Given the description of an element on the screen output the (x, y) to click on. 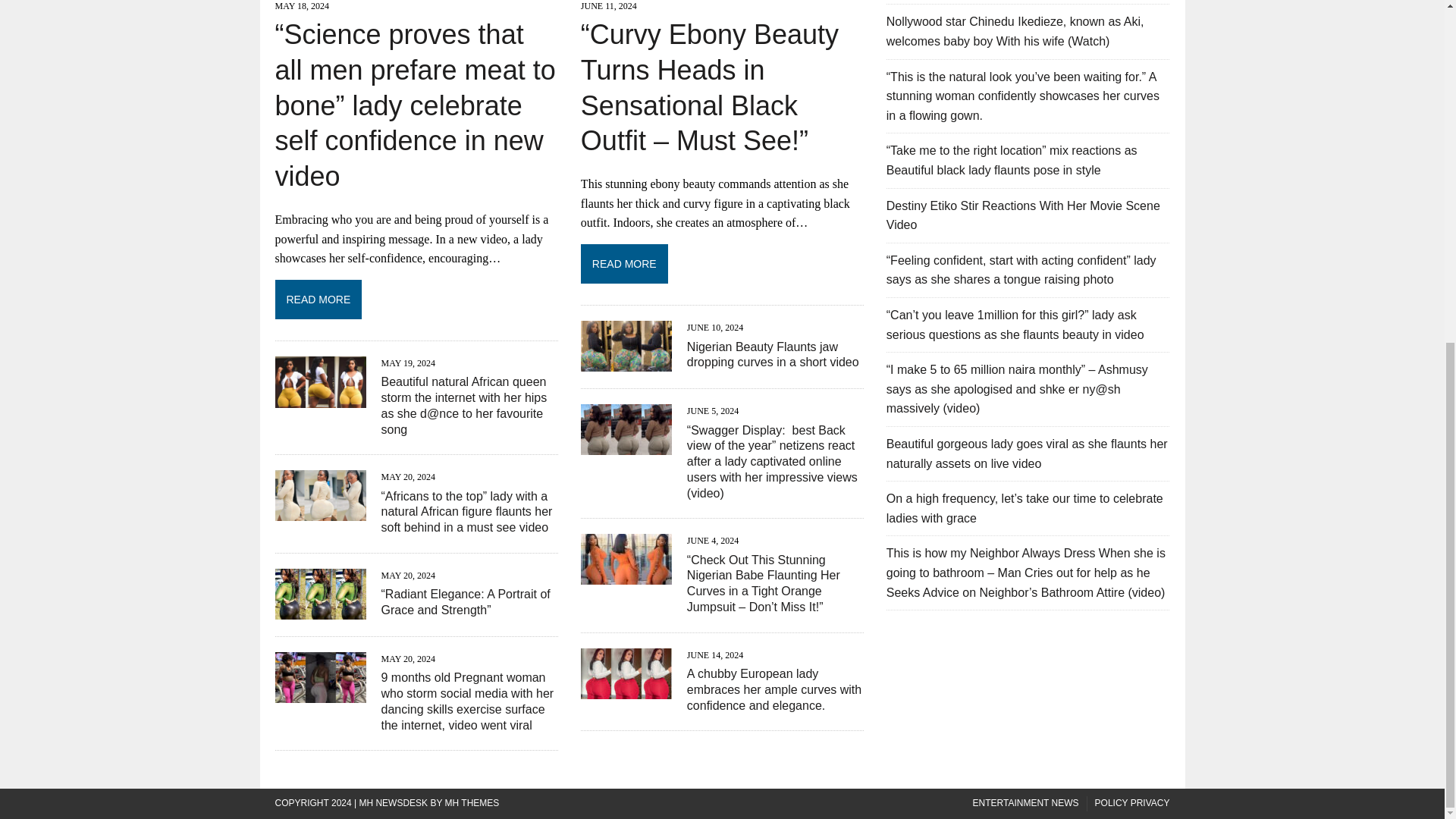
Nigerian Beauty Flaunts jaw dropping curves in a short video (773, 354)
READ MORE (416, 297)
READ MORE (721, 261)
